Given the description of an element on the screen output the (x, y) to click on. 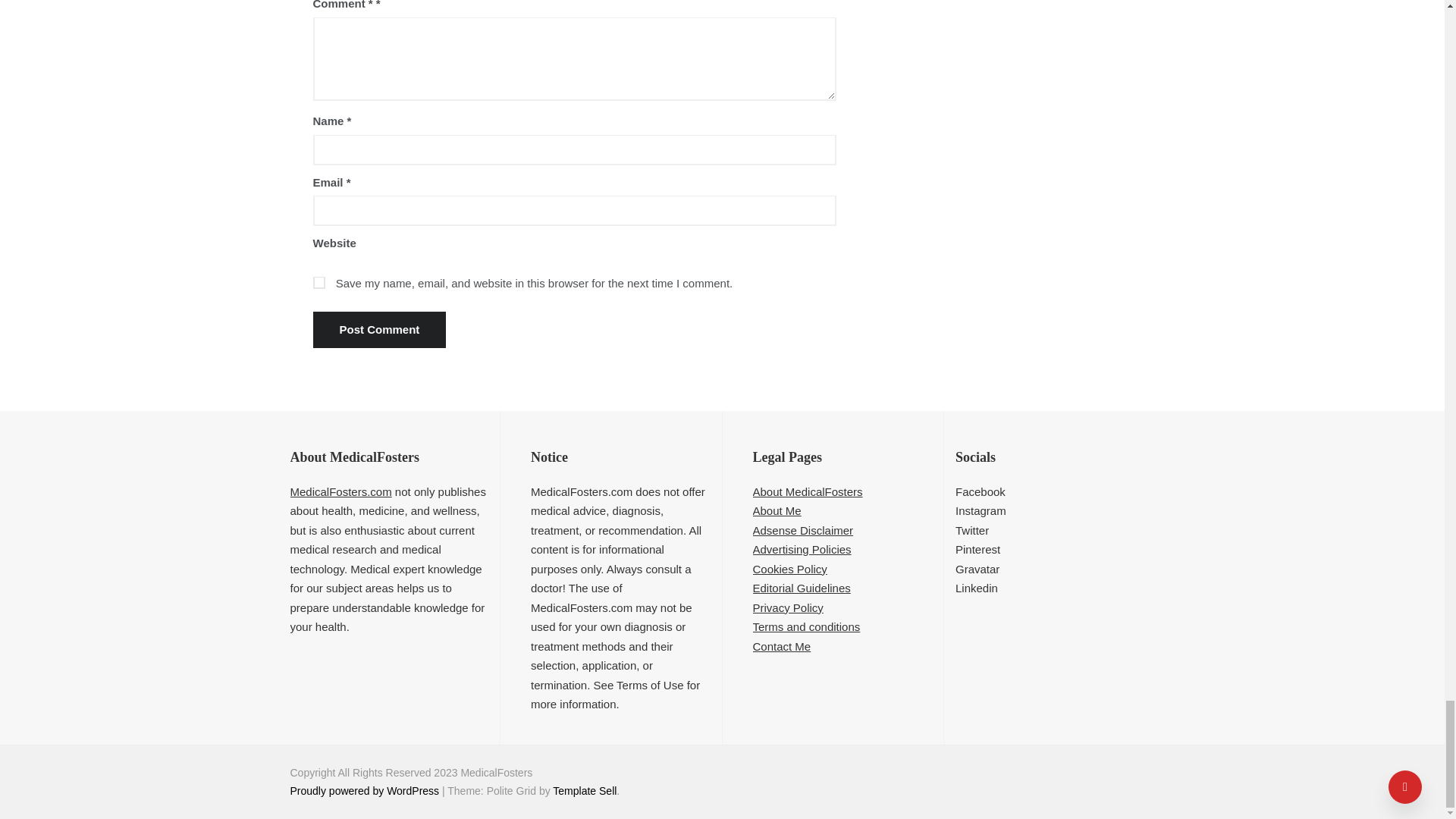
Post Comment (379, 330)
yes (318, 282)
